Given the description of an element on the screen output the (x, y) to click on. 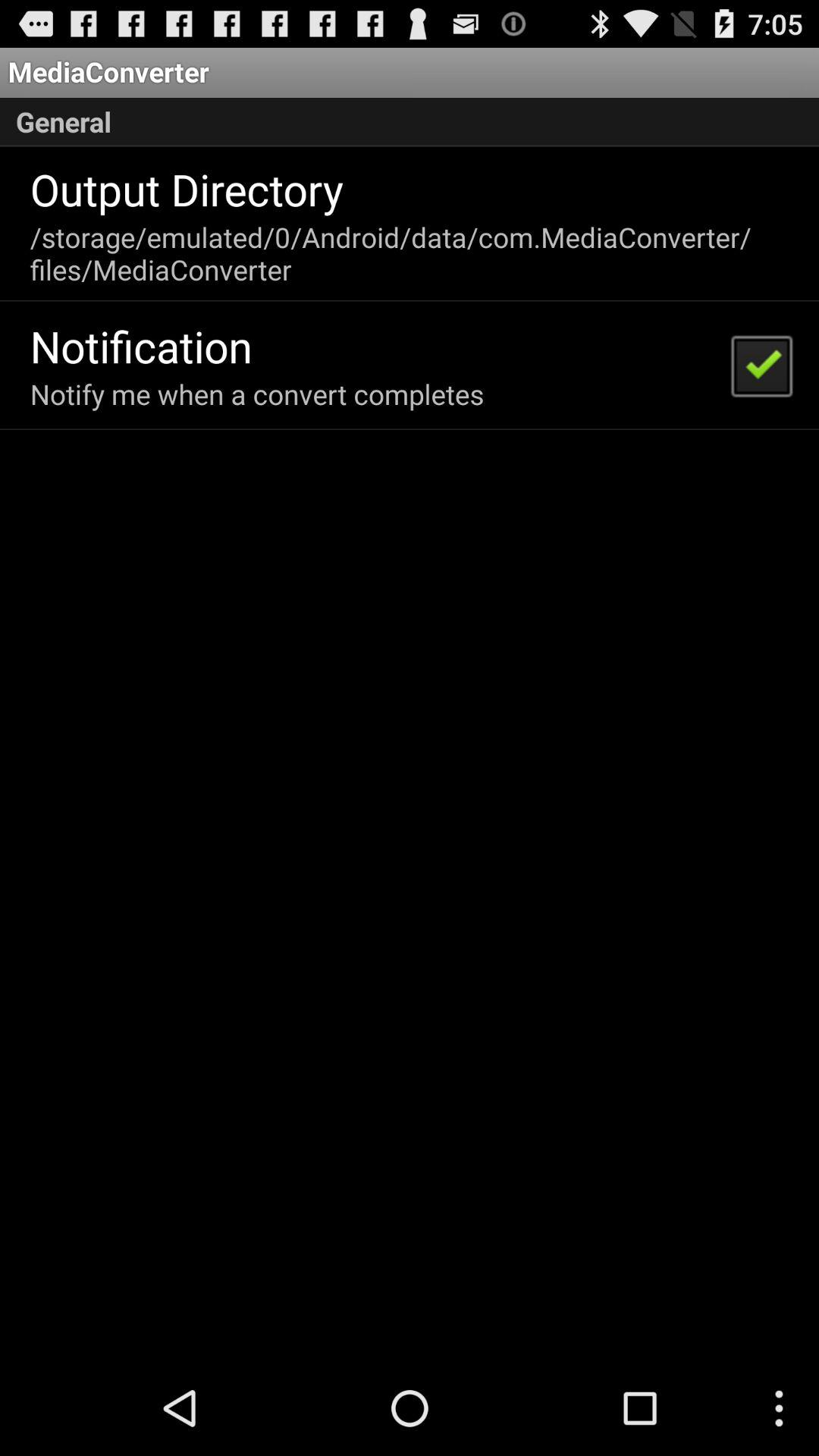
scroll to the general icon (409, 121)
